Given the description of an element on the screen output the (x, y) to click on. 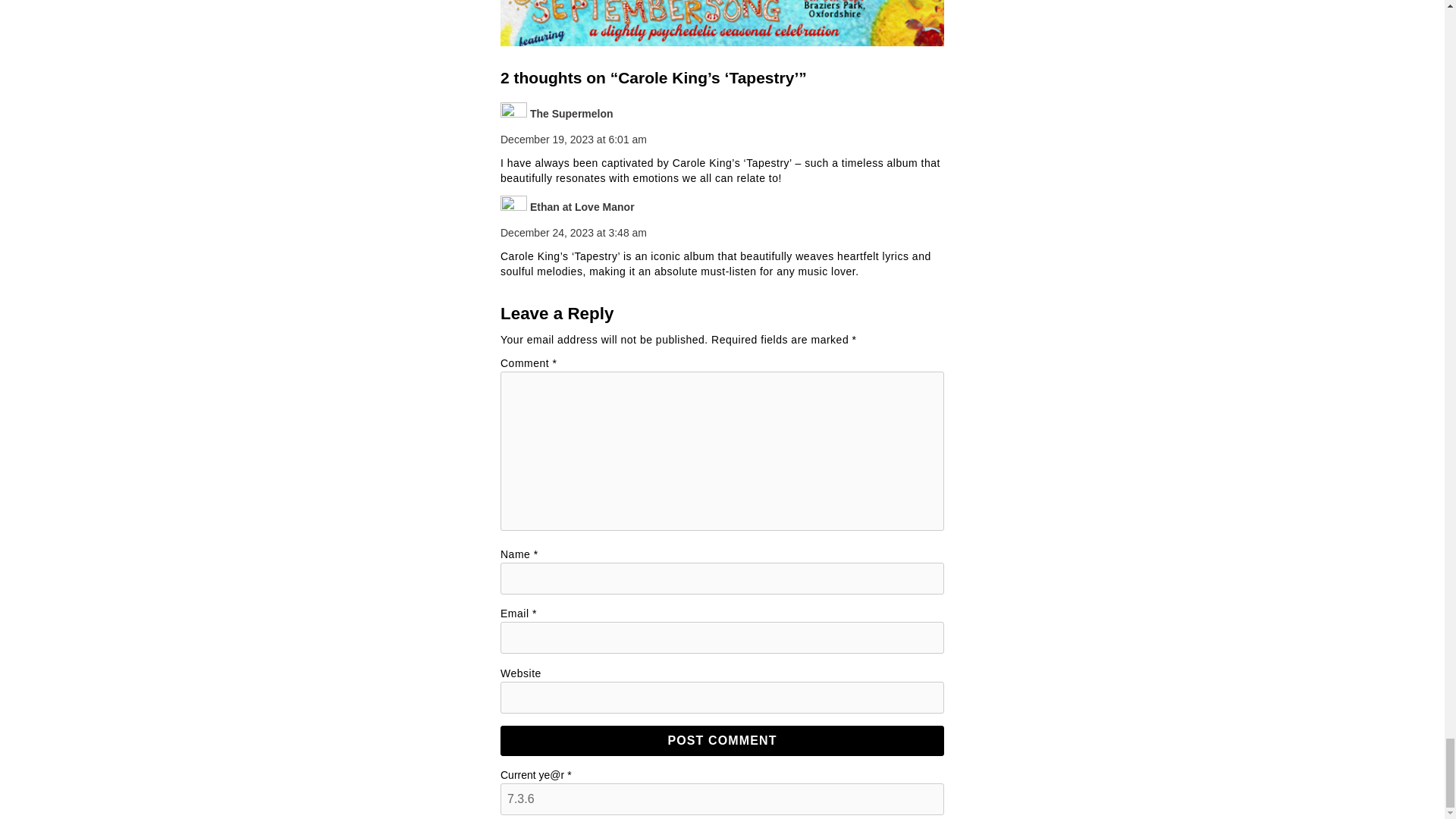
December 24, 2023 at 3:48 am (573, 232)
Post Comment (721, 740)
Post Comment (721, 740)
Ethan at Love Manor (581, 206)
December 19, 2023 at 6:01 am (573, 139)
The Supermelon (570, 113)
7.3.6 (721, 798)
